Given the description of an element on the screen output the (x, y) to click on. 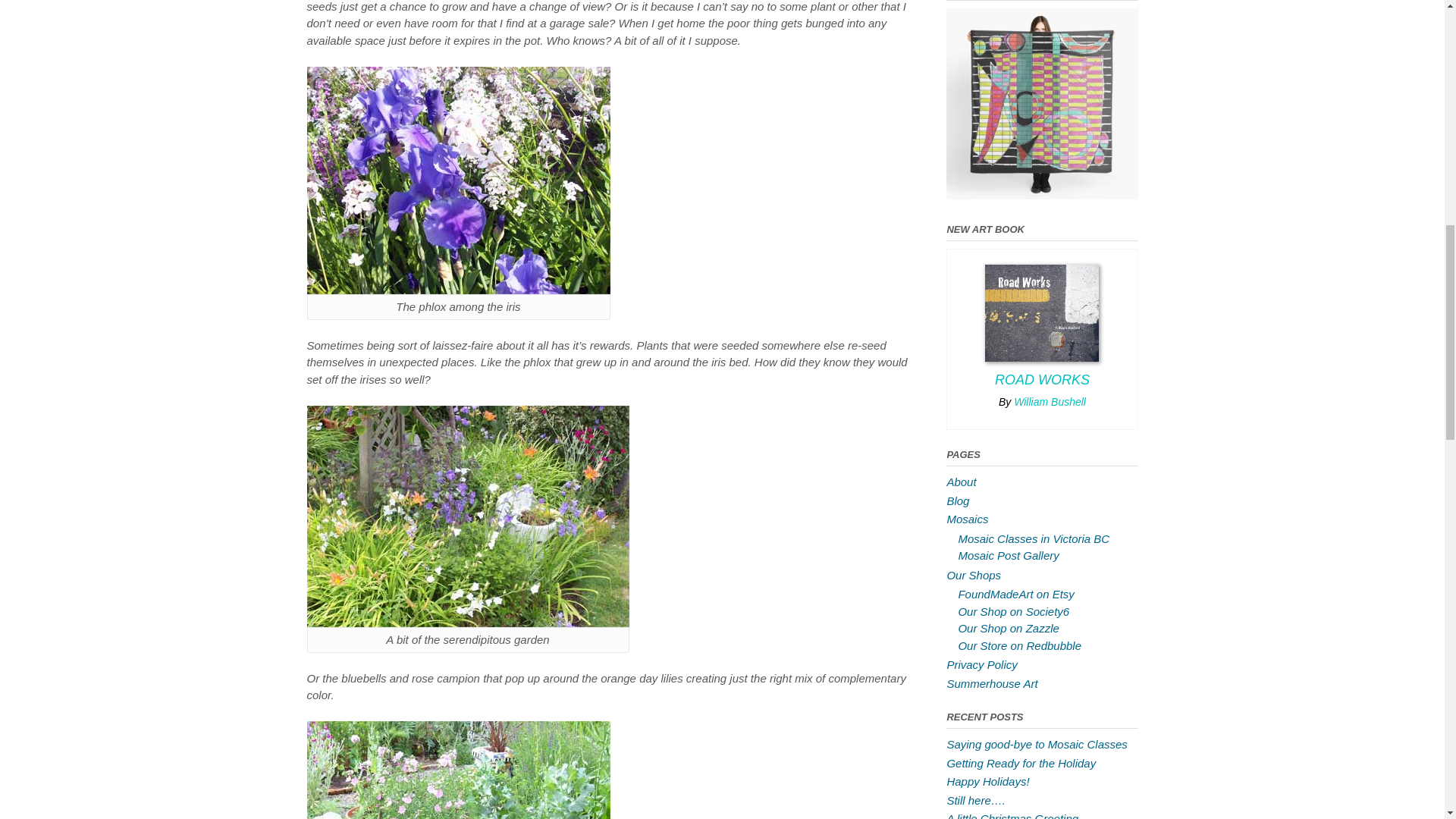
squash (457, 770)
diversity (466, 516)
Our Red Bubble Store (1041, 195)
